Given the description of an element on the screen output the (x, y) to click on. 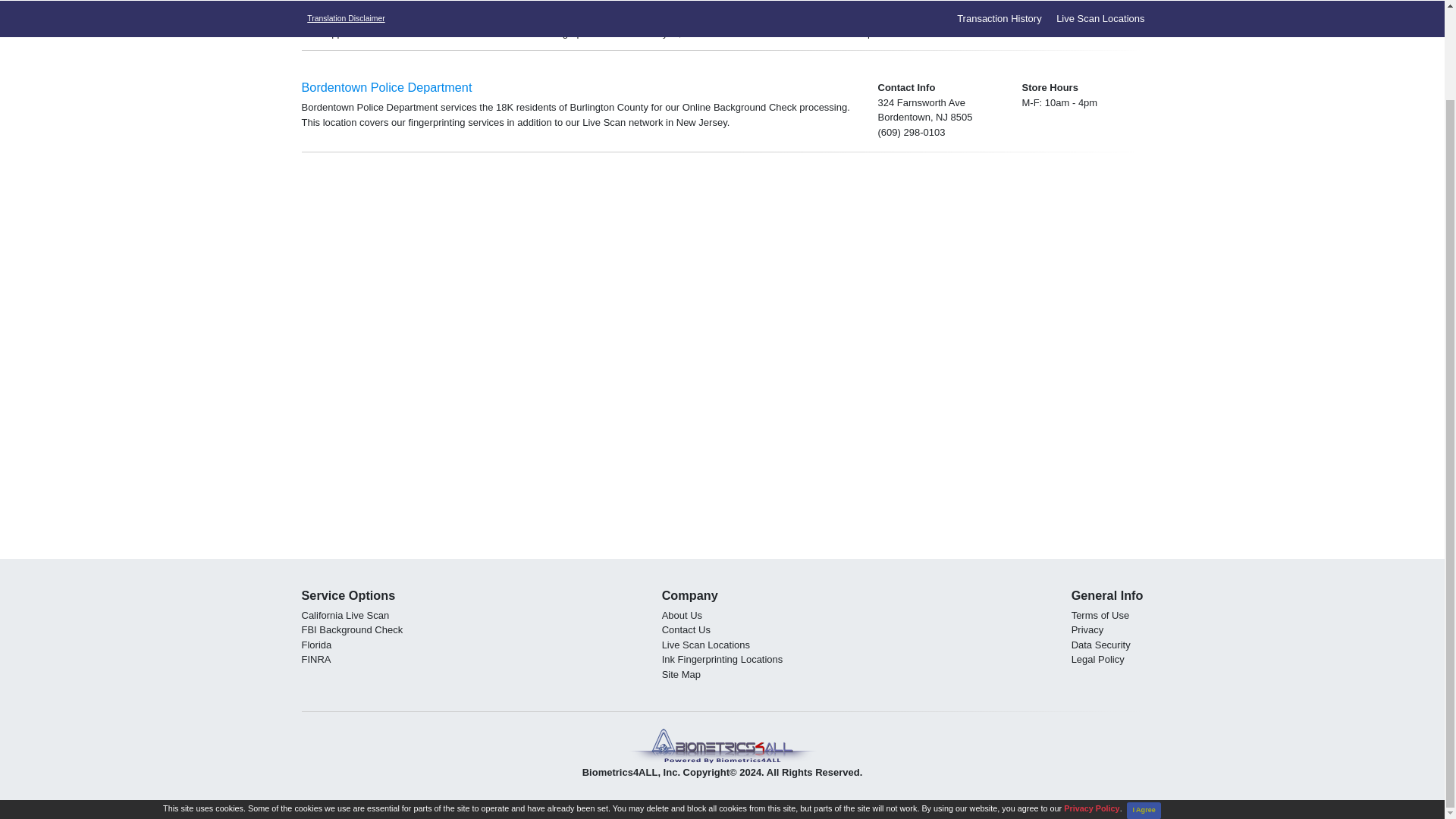
FBI Background Check (352, 629)
Contact Us (686, 629)
Terms of Use (1100, 614)
Legal Policy (1097, 659)
Live Scan Locations (780, 32)
FBI Background Check (352, 629)
Privacy (1087, 629)
California Live Scan (345, 614)
Florida (316, 644)
California Live Scan (345, 614)
Terms of Use (1100, 614)
Ink Fingerprinting Locations (722, 659)
Privacy (1087, 629)
FINRA (316, 659)
Ink Fingerprinting Locations (722, 659)
